Given the description of an element on the screen output the (x, y) to click on. 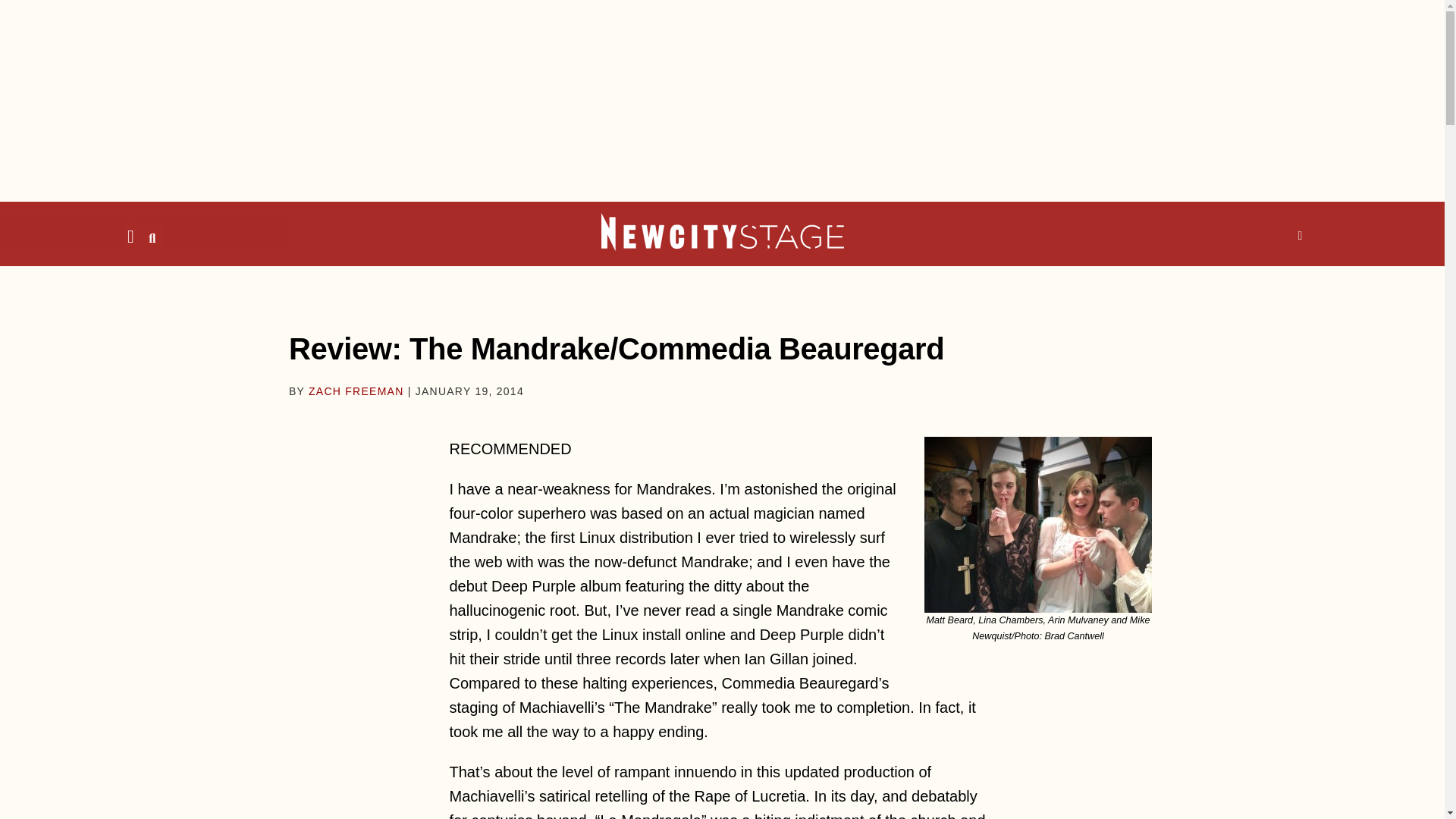
ZACH FREEMAN (355, 390)
Newcity Stage (721, 231)
